Given the description of an element on the screen output the (x, y) to click on. 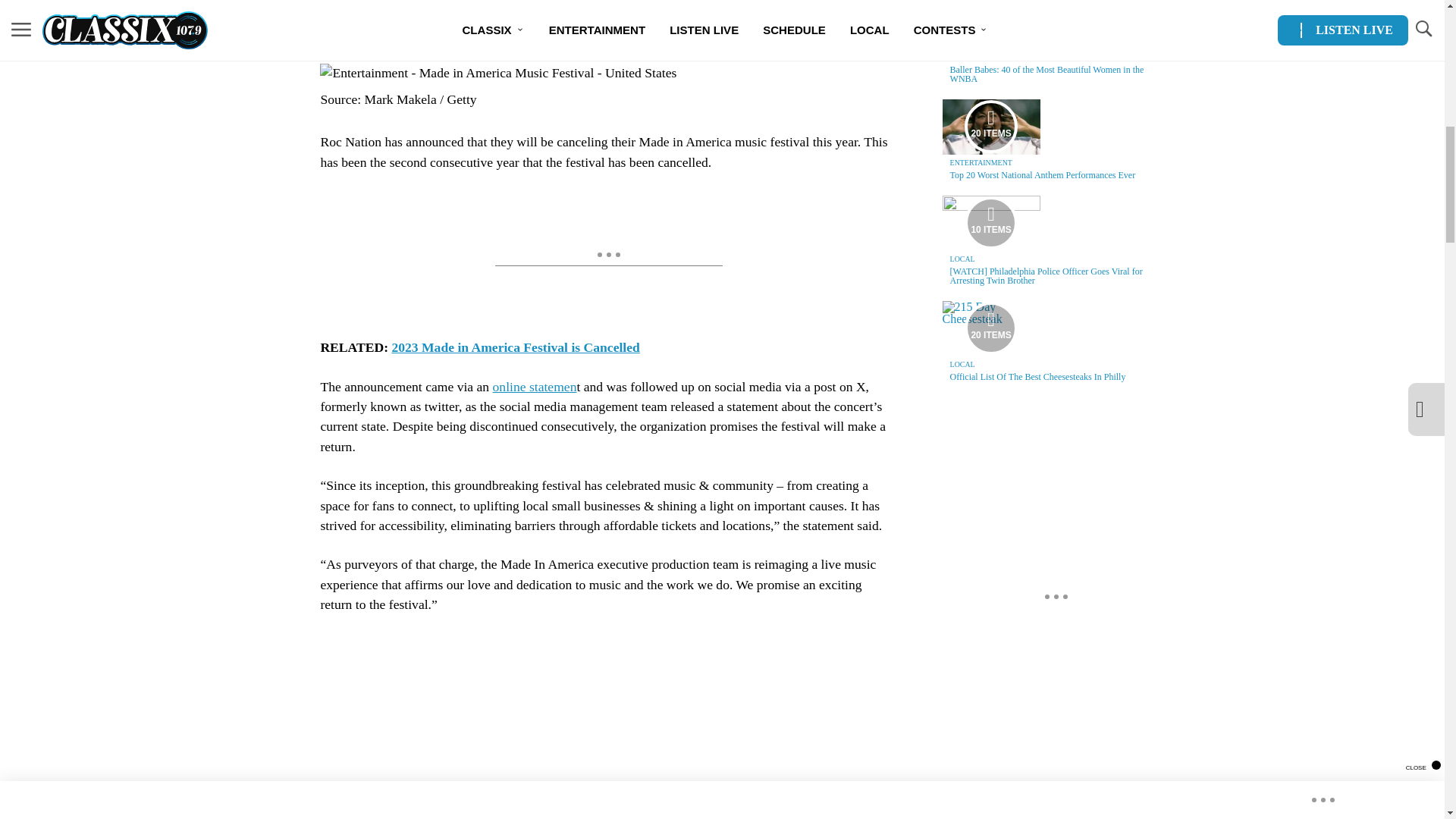
ENTERTAINMENT (980, 57)
Media Playlist (990, 328)
Baller Babes: 40 of the Most Beautiful Women in the WNBA (1047, 74)
Media Playlist (990, 23)
41 ITEMS (991, 24)
Media Playlist (990, 126)
Media Playlist (990, 222)
2023 Made in America Festival is Cancelled (515, 346)
online statemen (534, 386)
